Given the description of an element on the screen output the (x, y) to click on. 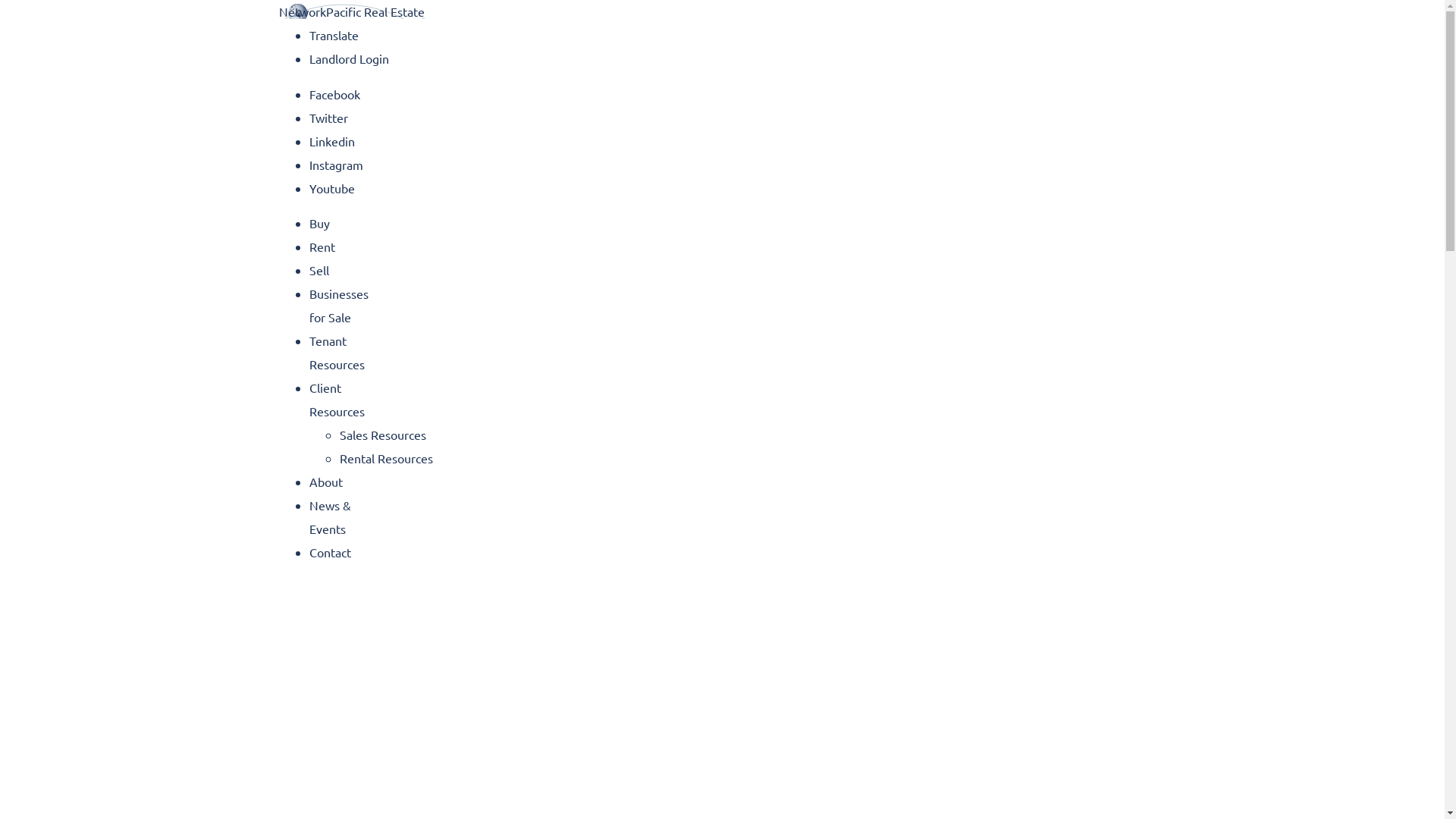
Businesses
for Sale Element type: text (338, 304)
Client
Resources Element type: text (336, 398)
Rent Element type: text (322, 246)
Facebook Element type: text (334, 93)
Translate Element type: text (333, 34)
Linkedin Element type: text (331, 140)
News &
Events Element type: text (330, 516)
Landlord Login Element type: text (349, 57)
Rental Resources Element type: text (386, 457)
NetworkPacific Real Estate Element type: text (351, 10)
Twitter Element type: text (328, 116)
Tenant
Resources Element type: text (336, 351)
Sales Resources Element type: text (382, 434)
About Element type: text (325, 481)
Youtube Element type: text (331, 187)
Contact Element type: text (330, 551)
Instagram Element type: text (336, 163)
Buy Element type: text (319, 222)
Sell Element type: text (319, 269)
